Given the description of an element on the screen output the (x, y) to click on. 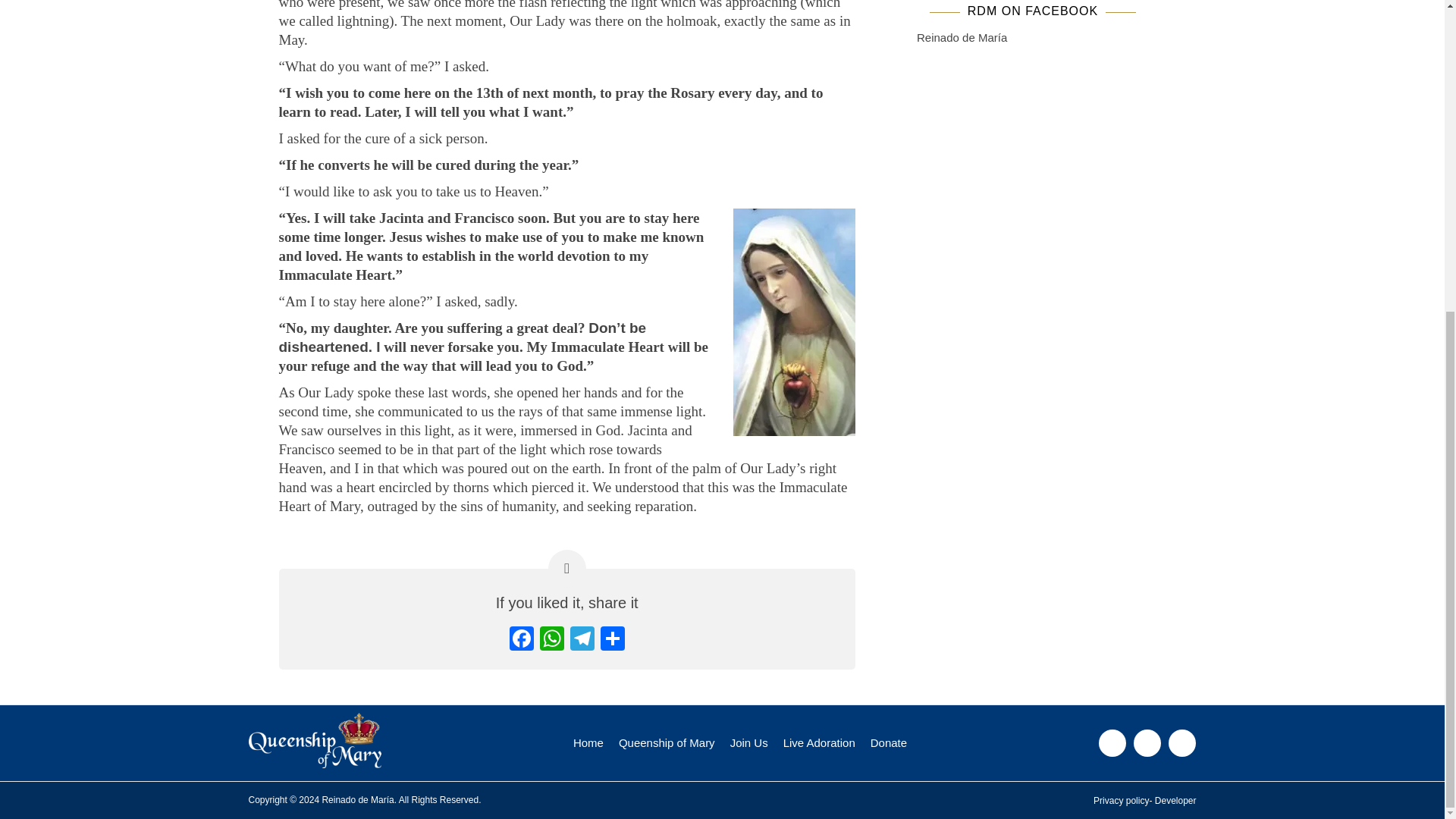
Telegram (581, 640)
WhatsApp (552, 640)
Telegram (581, 640)
Facebook (521, 640)
WhatsApp (552, 640)
Facebook (521, 640)
